Given the description of an element on the screen output the (x, y) to click on. 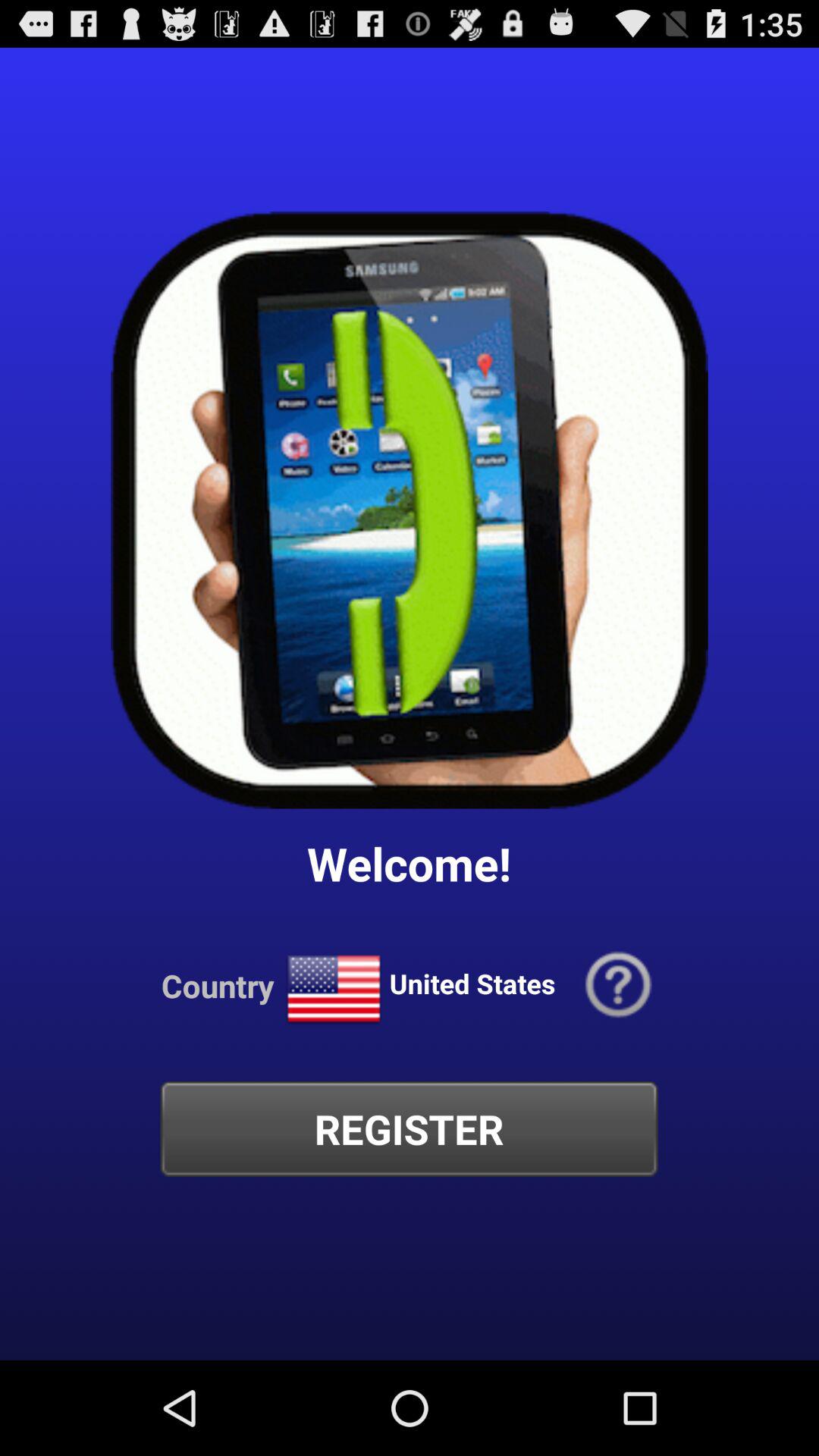
click the app to the right of united states item (618, 985)
